Given the description of an element on the screen output the (x, y) to click on. 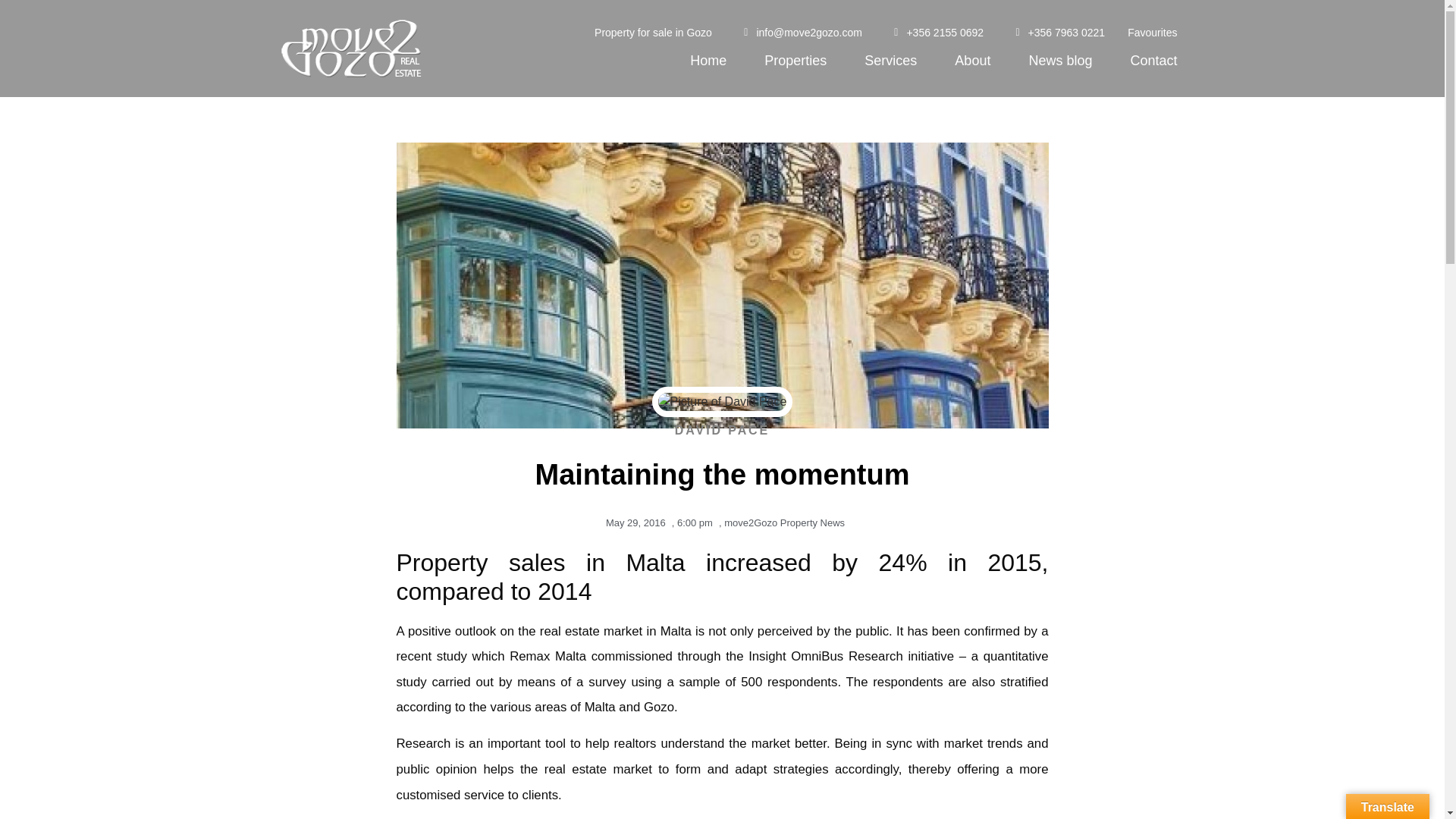
Favourites (1151, 32)
Home (708, 60)
Properties (795, 60)
About (972, 60)
Property for sale in Gozo (652, 32)
Services (890, 60)
